Given the description of an element on the screen output the (x, y) to click on. 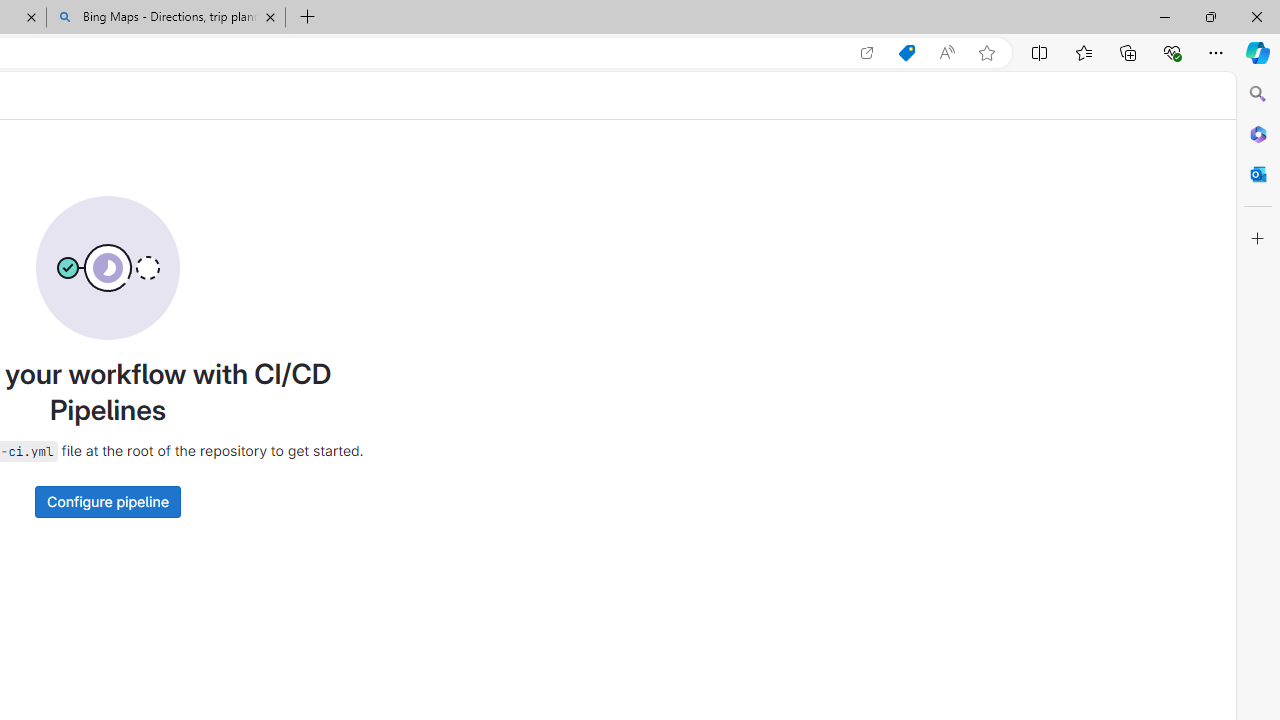
Shopping in Microsoft Edge (906, 53)
